Given the description of an element on the screen output the (x, y) to click on. 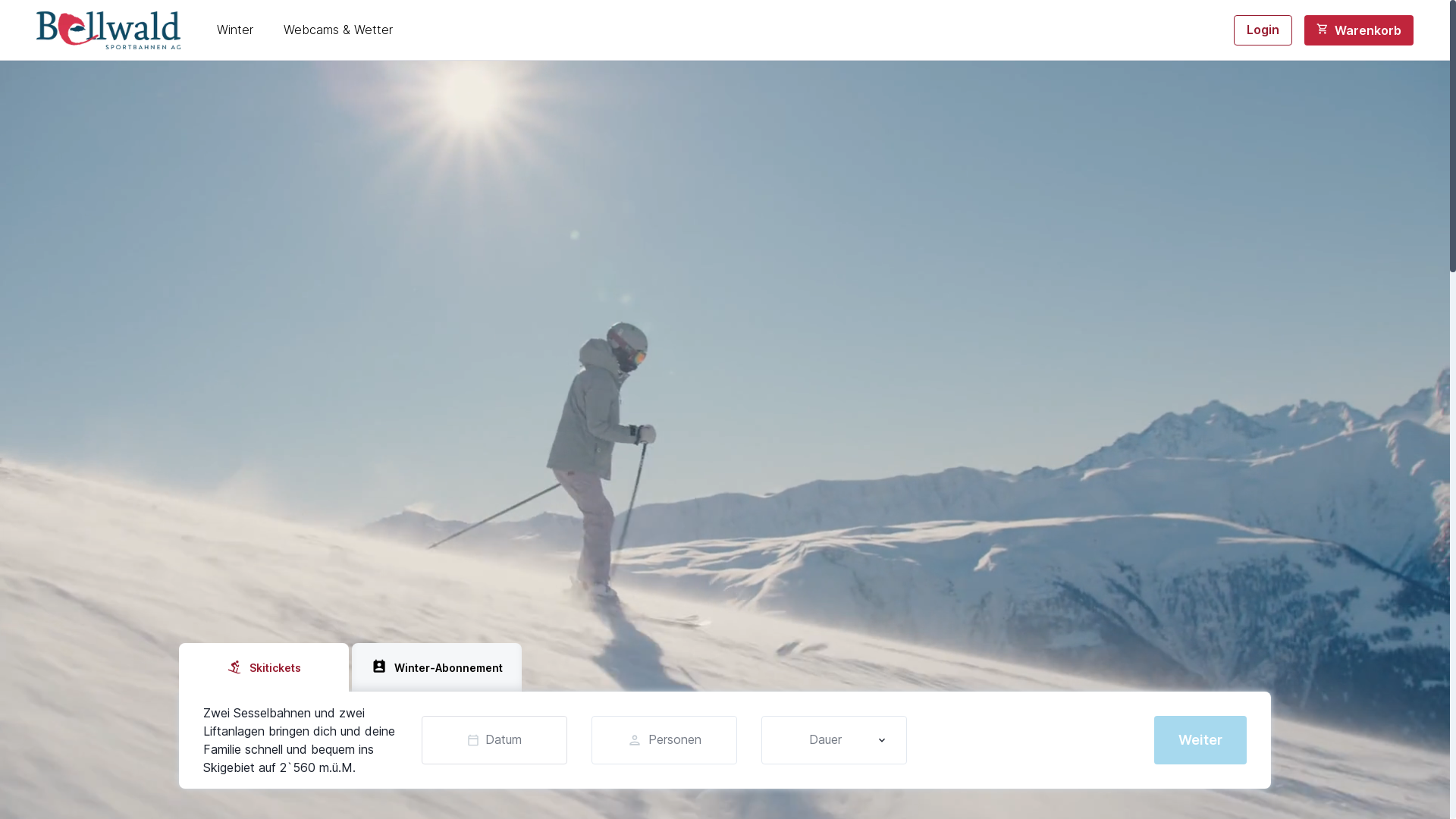
Warenkorb Element type: text (1358, 30)
Dauer Element type: text (833, 739)
de Element type: text (101, 28)
fr Element type: text (101, 71)
en Element type: text (101, 50)
Winter-Abonnement Element type: text (436, 667)
Skitickets Element type: text (263, 667)
Weiter Element type: text (1200, 739)
Winter Element type: text (234, 30)
Datum Element type: text (494, 739)
Webcams & Wetter Element type: text (337, 30)
Personen Element type: text (664, 739)
Login Element type: text (1262, 30)
